Given the description of an element on the screen output the (x, y) to click on. 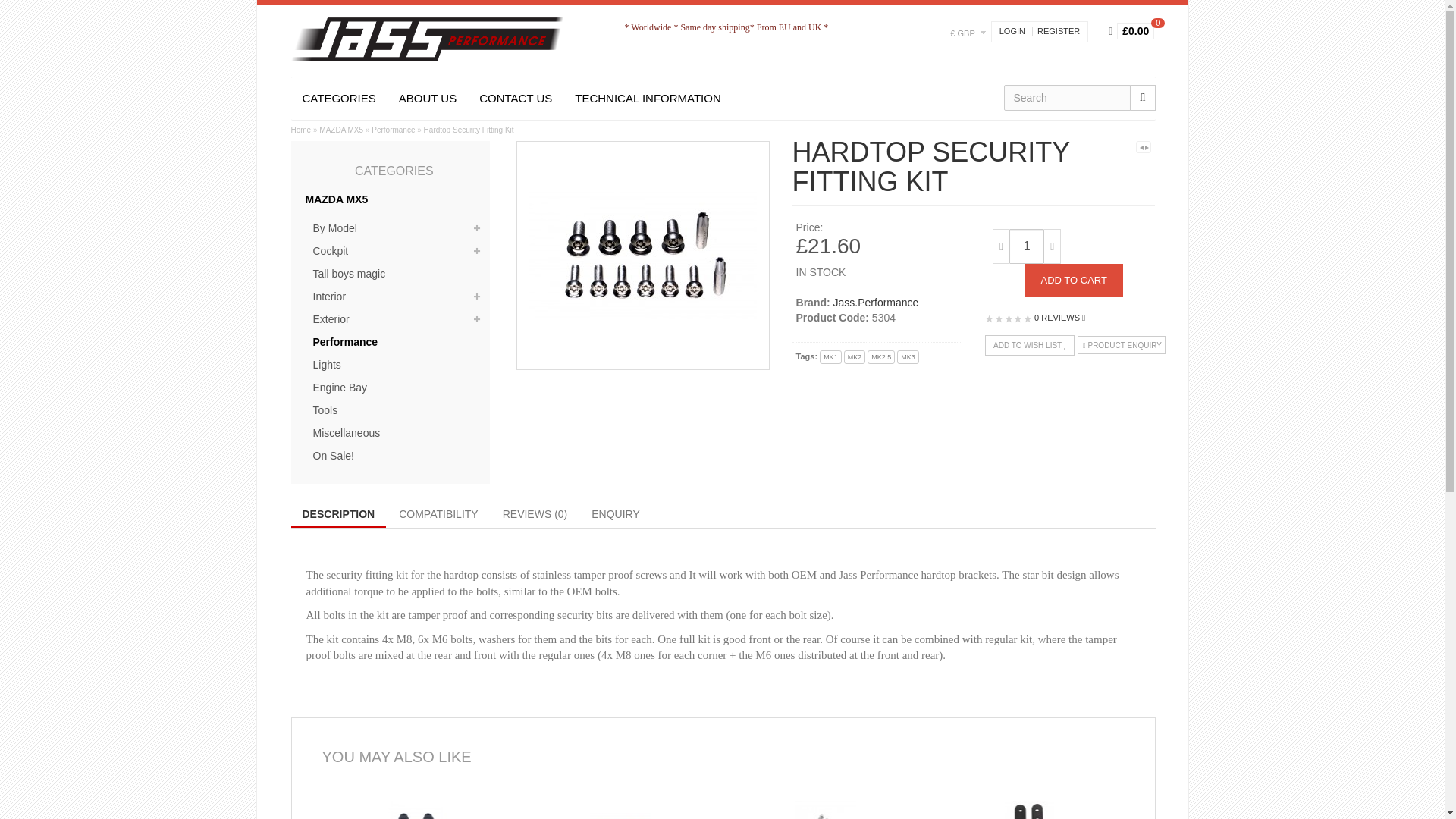
CATEGORIES (339, 97)
Hardtop Security Fitting Kit (643, 255)
Hardtop Security Fitting Kit (643, 254)
MAZDA MX5 (389, 200)
Home (301, 130)
Performance (392, 130)
ABOUT US (427, 97)
REGISTER (1056, 31)
1 (1026, 246)
By Model (393, 228)
Hardtop Security Fitting Kit (468, 130)
Add to Cart (1073, 280)
CONTACT US (515, 97)
LOGIN (1011, 31)
Jass Performance (427, 38)
